Given the description of an element on the screen output the (x, y) to click on. 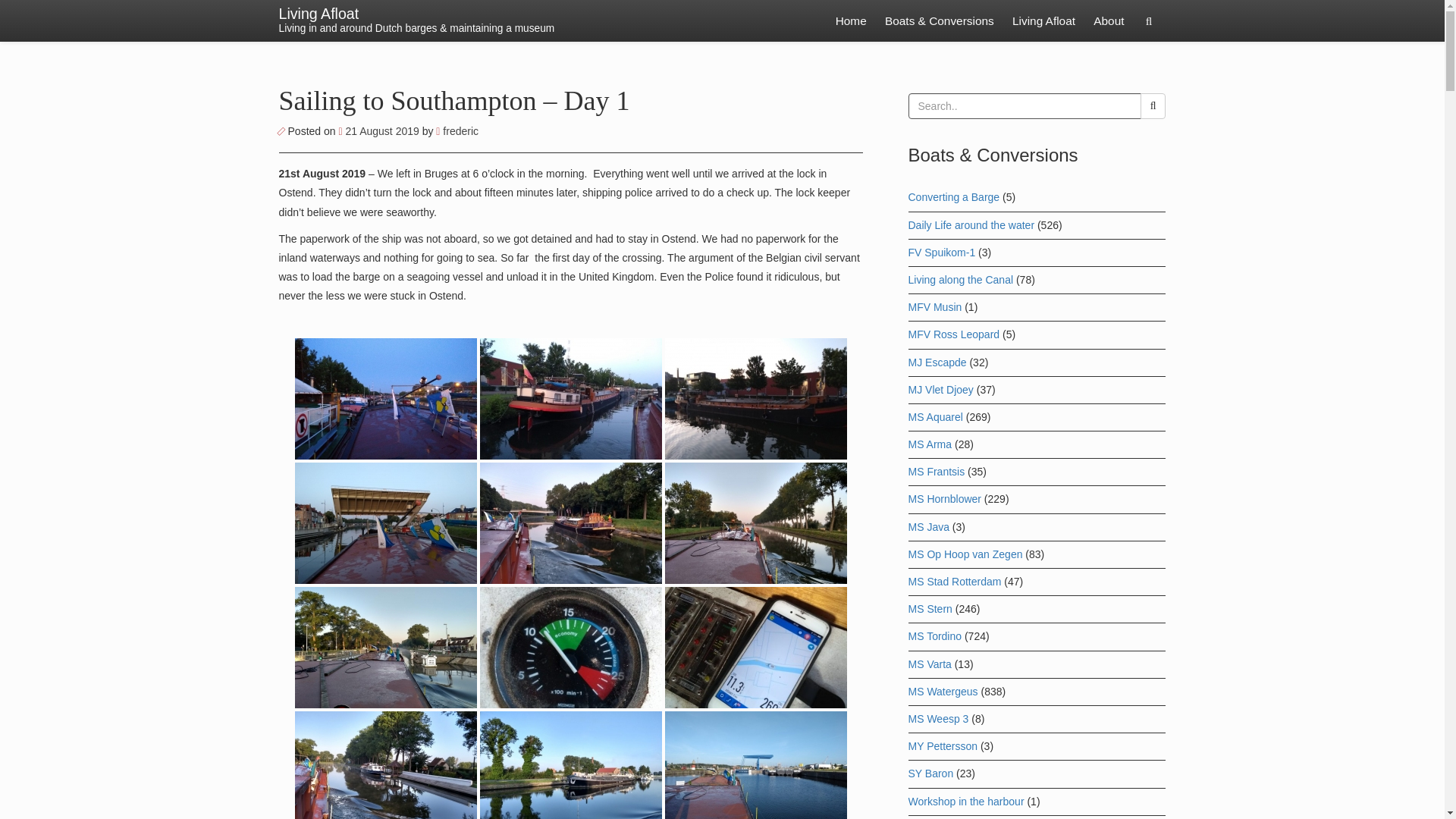
About (1108, 20)
Living Afloat (1043, 20)
21 August 2019 (379, 131)
20:56 (379, 131)
frederic (457, 131)
Home (851, 20)
